Given the description of an element on the screen output the (x, y) to click on. 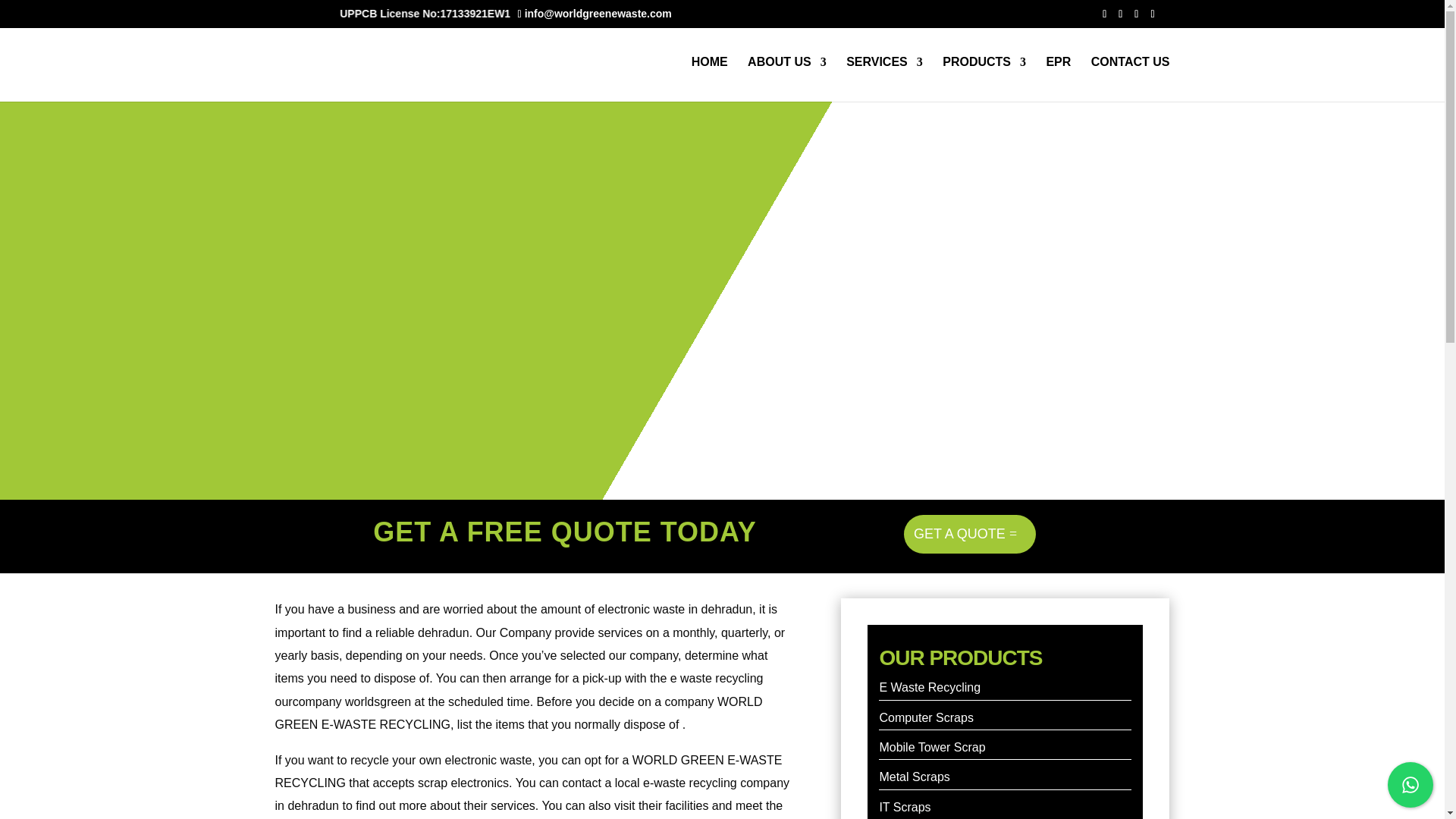
CONTACT US (1130, 78)
SERVICES (884, 78)
ABOUT US (787, 78)
Computer Scraps (926, 717)
PRODUCTS (984, 78)
GET A QUOTE (969, 534)
Mobile Tower Scrap (932, 747)
E Waste Recycling (929, 686)
